Given the description of an element on the screen output the (x, y) to click on. 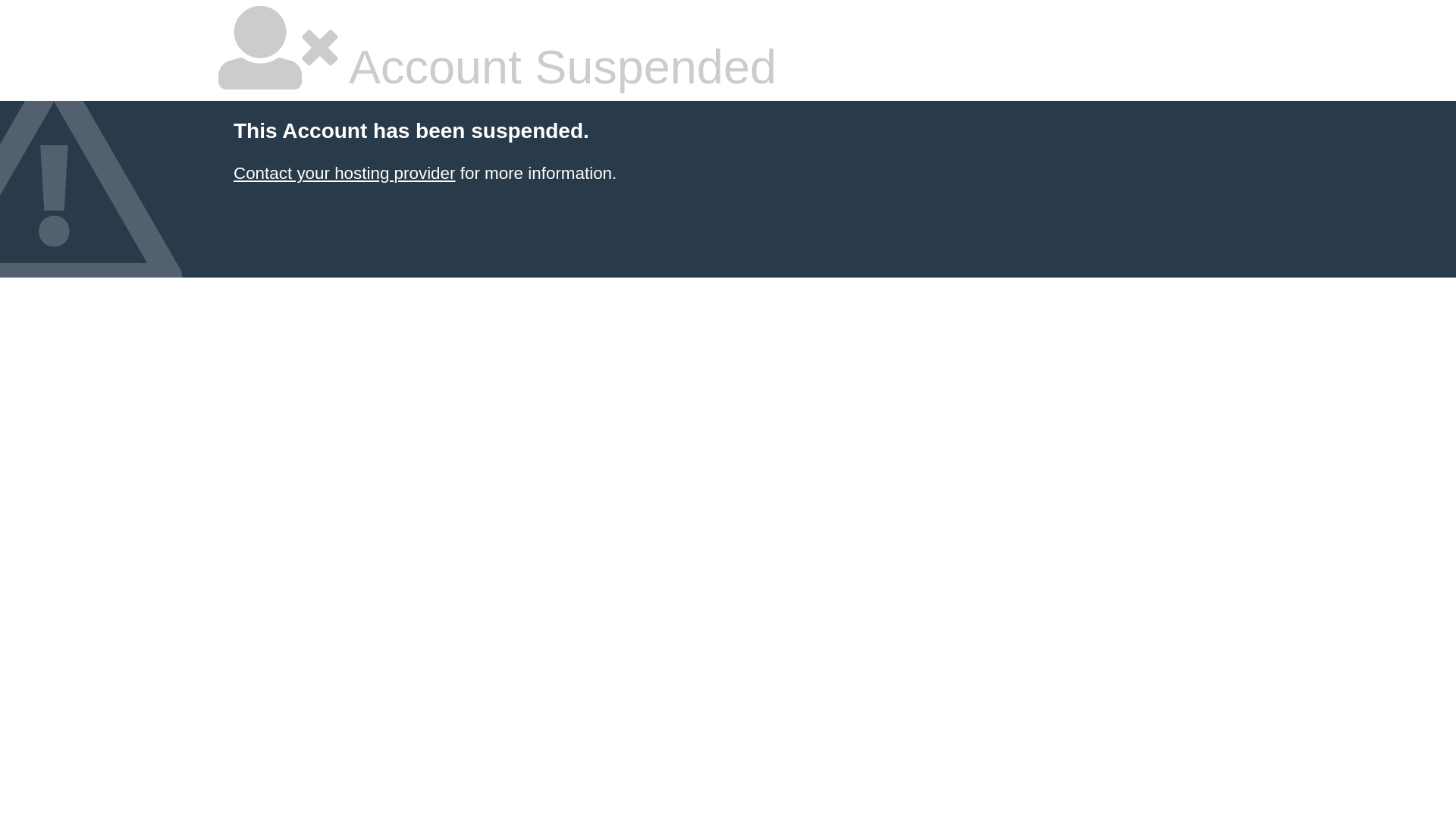
Contact your hosting provider Element type: text (344, 172)
